Given the description of an element on the screen output the (x, y) to click on. 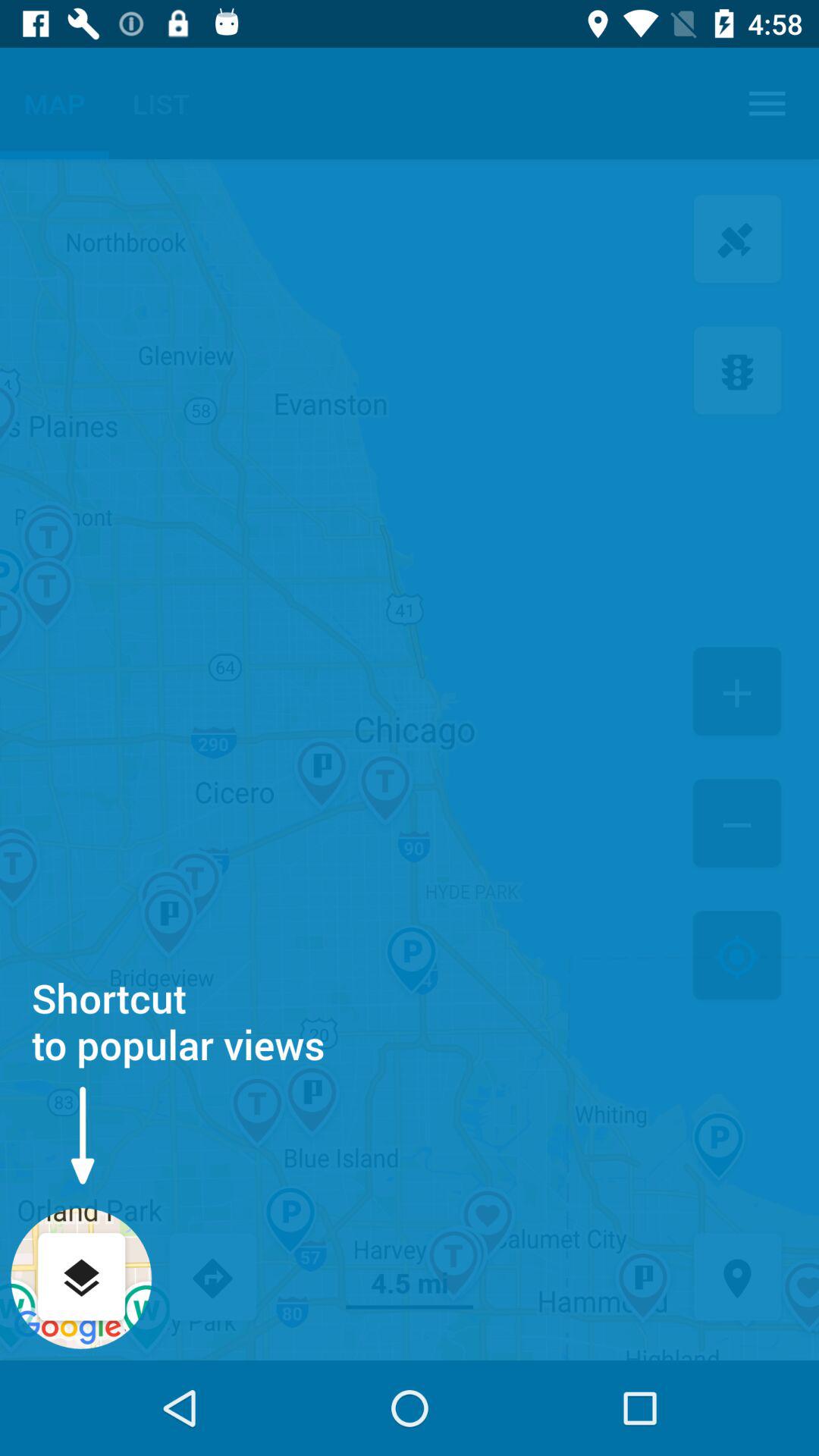
select item at the bottom right corner (737, 1278)
